Given the description of an element on the screen output the (x, y) to click on. 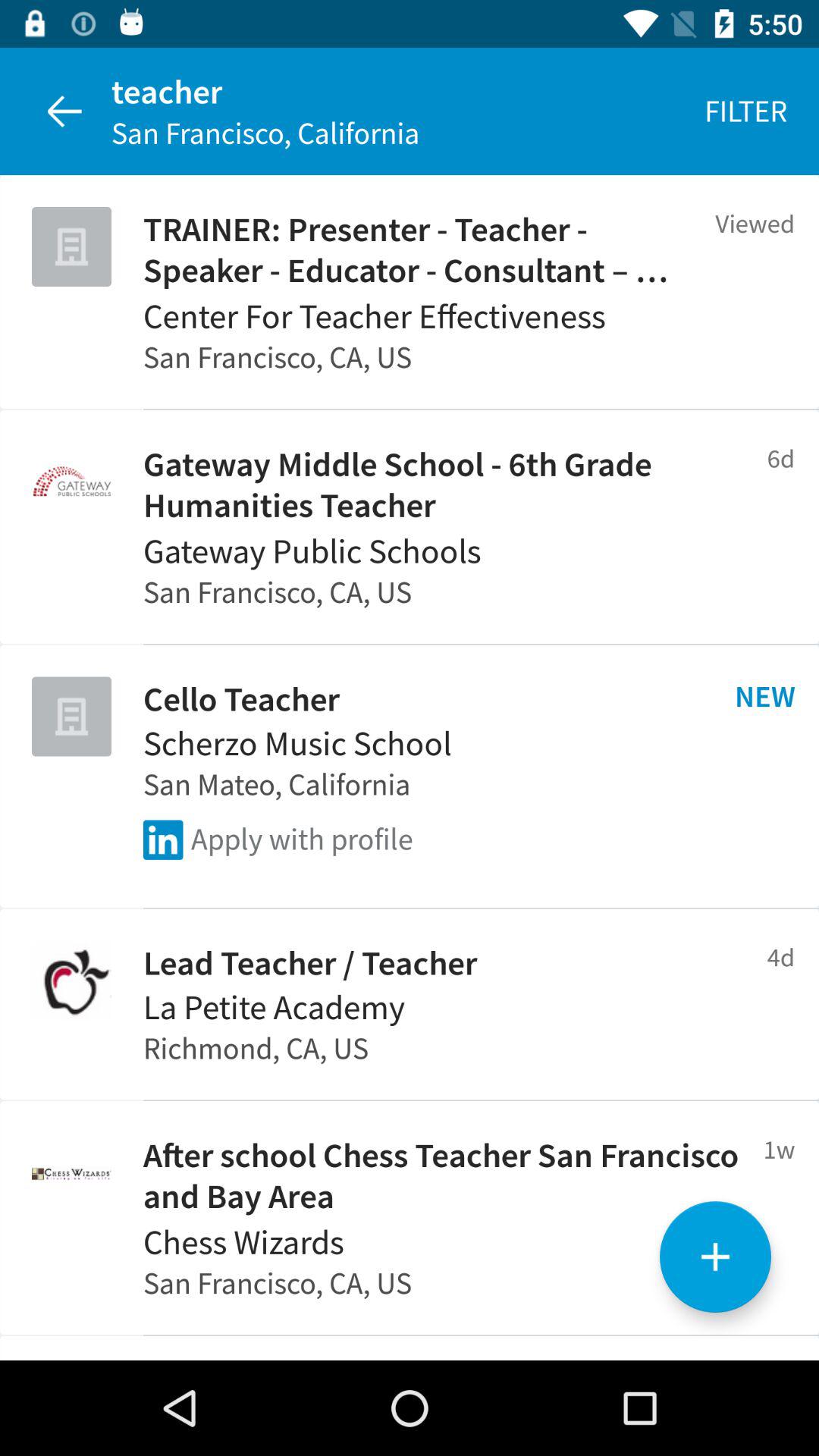
select the logo on the bottom left corner of the web page (71, 1172)
click on button above viewed (745, 111)
